Given the description of an element on the screen output the (x, y) to click on. 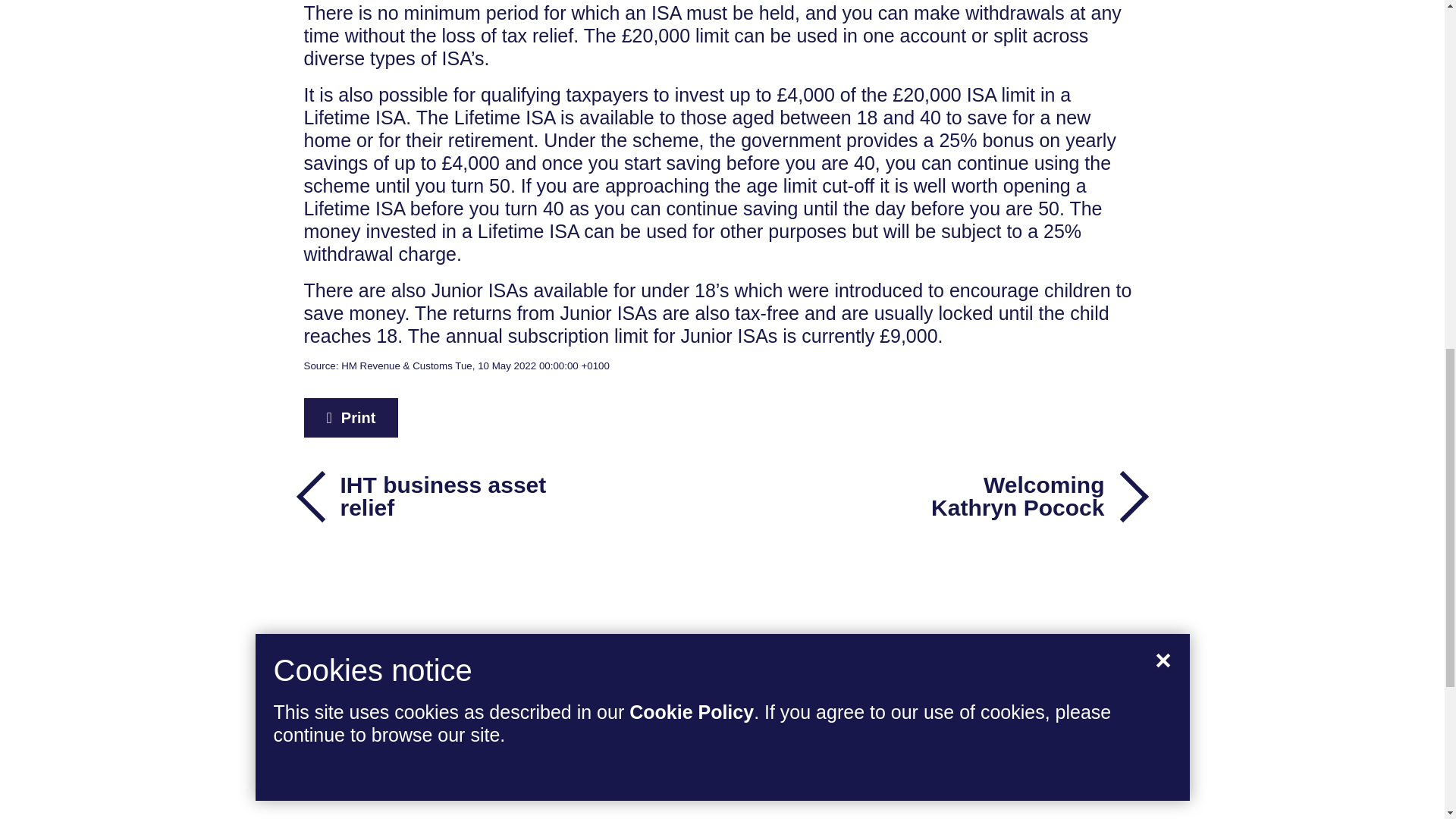
Welcoming Kathryn Pocock (1019, 496)
IHT business asset relief (424, 496)
IHT business asset relief (424, 496)
Welcoming Kathryn Pocock (1019, 496)
